Given the description of an element on the screen output the (x, y) to click on. 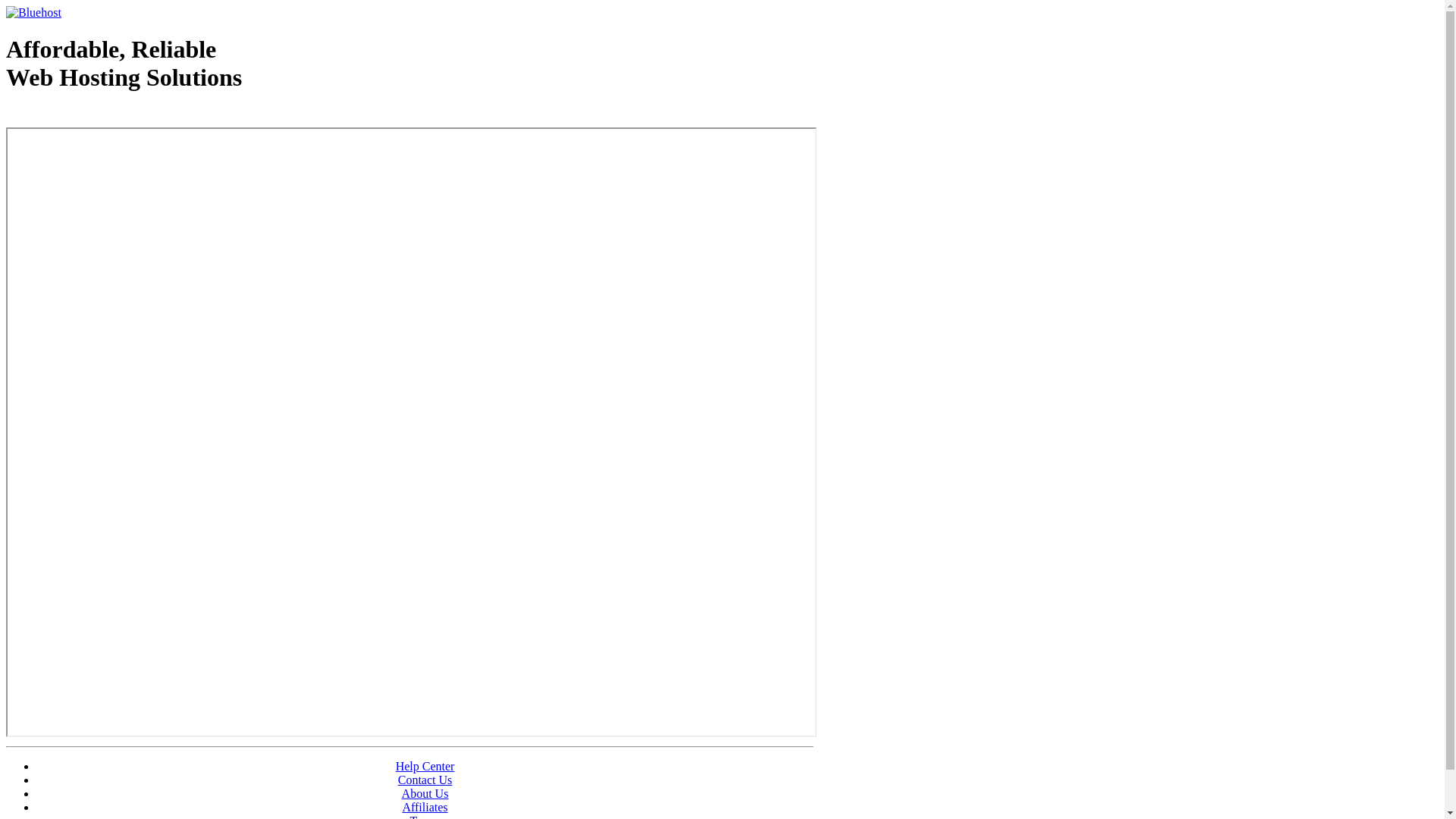
Web Hosting - courtesy of www.bluehost.com Element type: text (94, 115)
Affiliates Element type: text (424, 806)
Contact Us Element type: text (425, 779)
About Us Element type: text (424, 793)
Help Center Element type: text (425, 765)
